Given the description of an element on the screen output the (x, y) to click on. 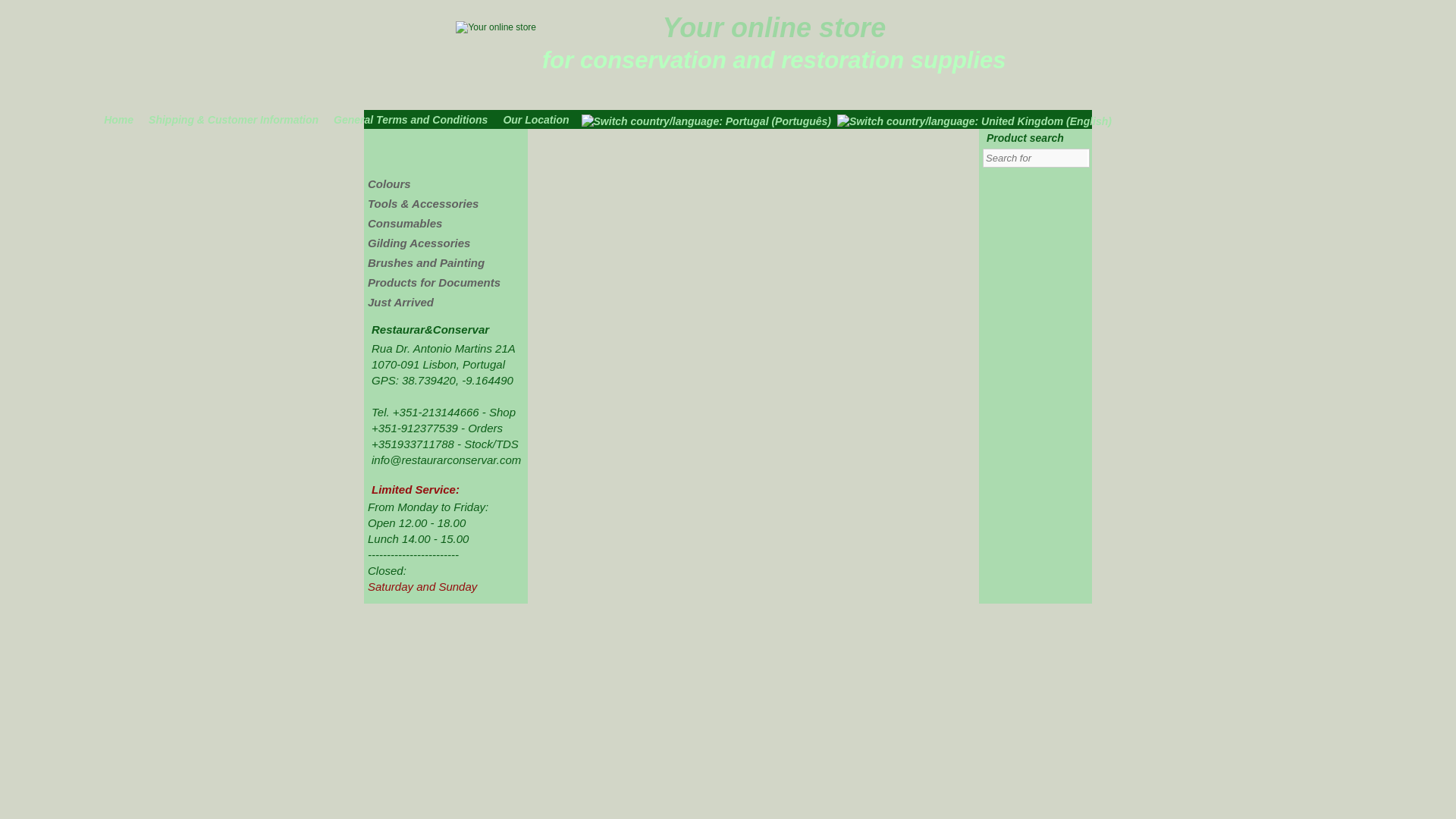
Just Arrived (400, 301)
Gilding Acessories (419, 242)
Consumables (405, 223)
Your online store (773, 27)
Home (122, 118)
Your online store (773, 27)
Colours (389, 183)
Products for Documents (434, 282)
Brushes and Painting (426, 262)
Start search (1076, 158)
